Given the description of an element on the screen output the (x, y) to click on. 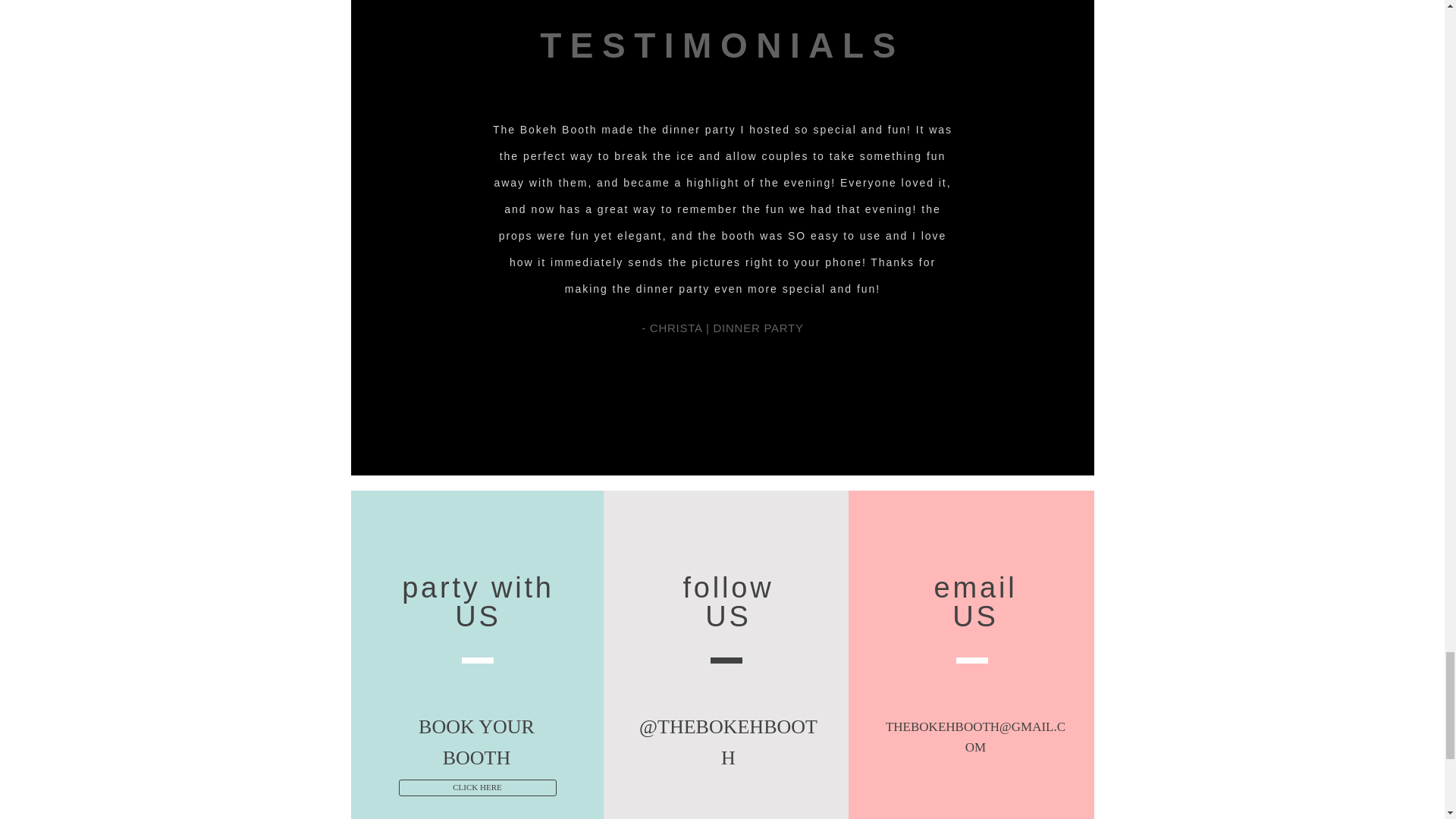
CLICK HERE (477, 787)
